Given the description of an element on the screen output the (x, y) to click on. 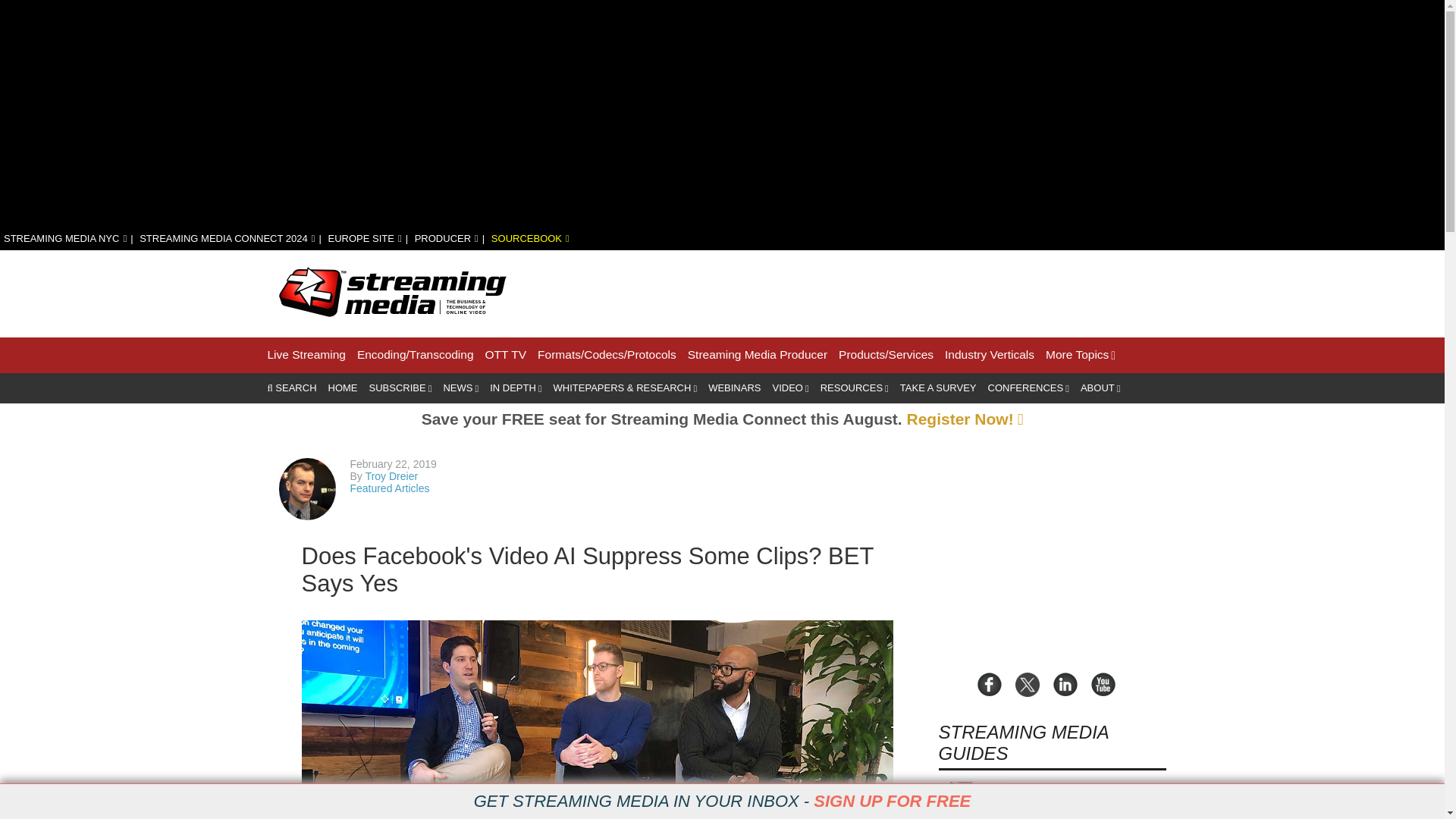
Live Streaming (305, 355)
SUBSCRIBE (400, 388)
NEWS (460, 388)
Streaming Media Producer (757, 355)
 SEARCH (290, 387)
STREAMING MEDIA NYC (65, 238)
Industry Verticals (988, 355)
HOME (343, 387)
Streaming Media Producer (757, 355)
PRODUCER (446, 238)
3rd party ad content (890, 291)
GET STREAMING MEDIA IN YOUR INBOX - SIGN UP FOR FREE (722, 801)
More Topics (1080, 355)
OTT TV (505, 355)
